Given the description of an element on the screen output the (x, y) to click on. 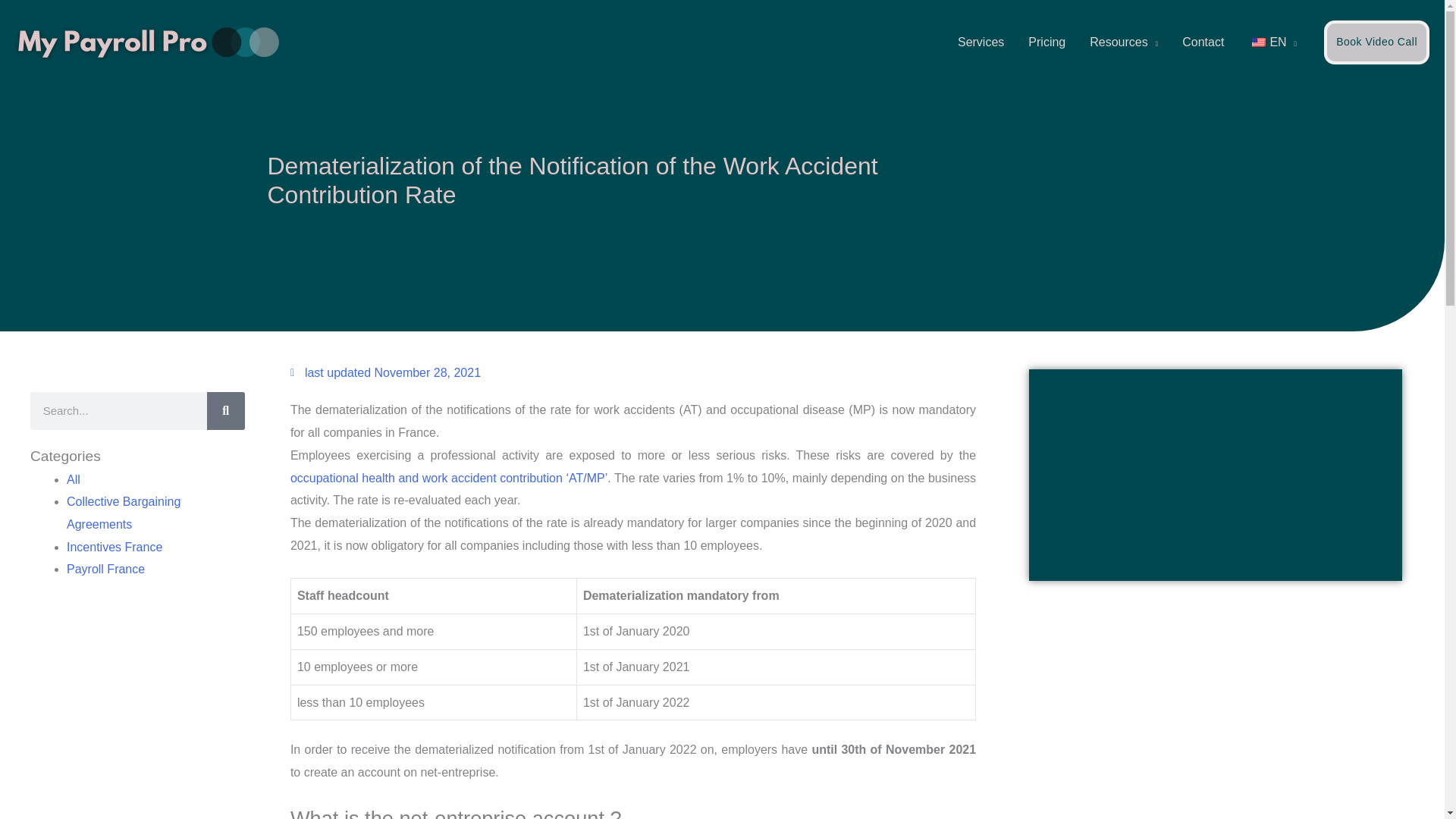
EN (1272, 41)
last updated November 28, 2021 (384, 372)
Incentives France (113, 546)
English (1258, 41)
Pricing (1046, 41)
Book Video Call (1376, 42)
All (73, 479)
Contact (1203, 41)
Collective Bargaining Agreements (123, 512)
Payroll France (105, 568)
